Given the description of an element on the screen output the (x, y) to click on. 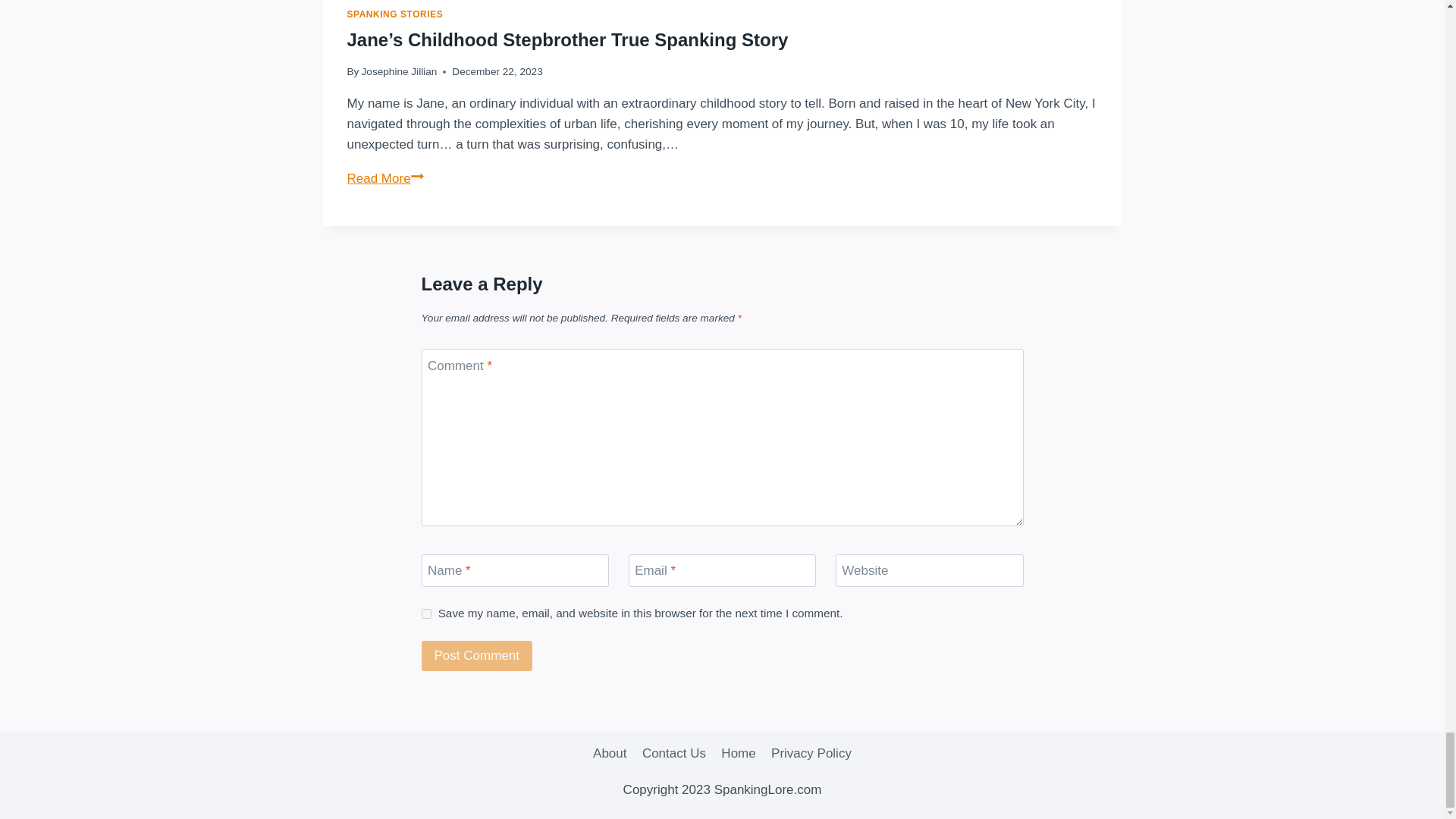
yes (426, 614)
Post Comment (477, 655)
